Given the description of an element on the screen output the (x, y) to click on. 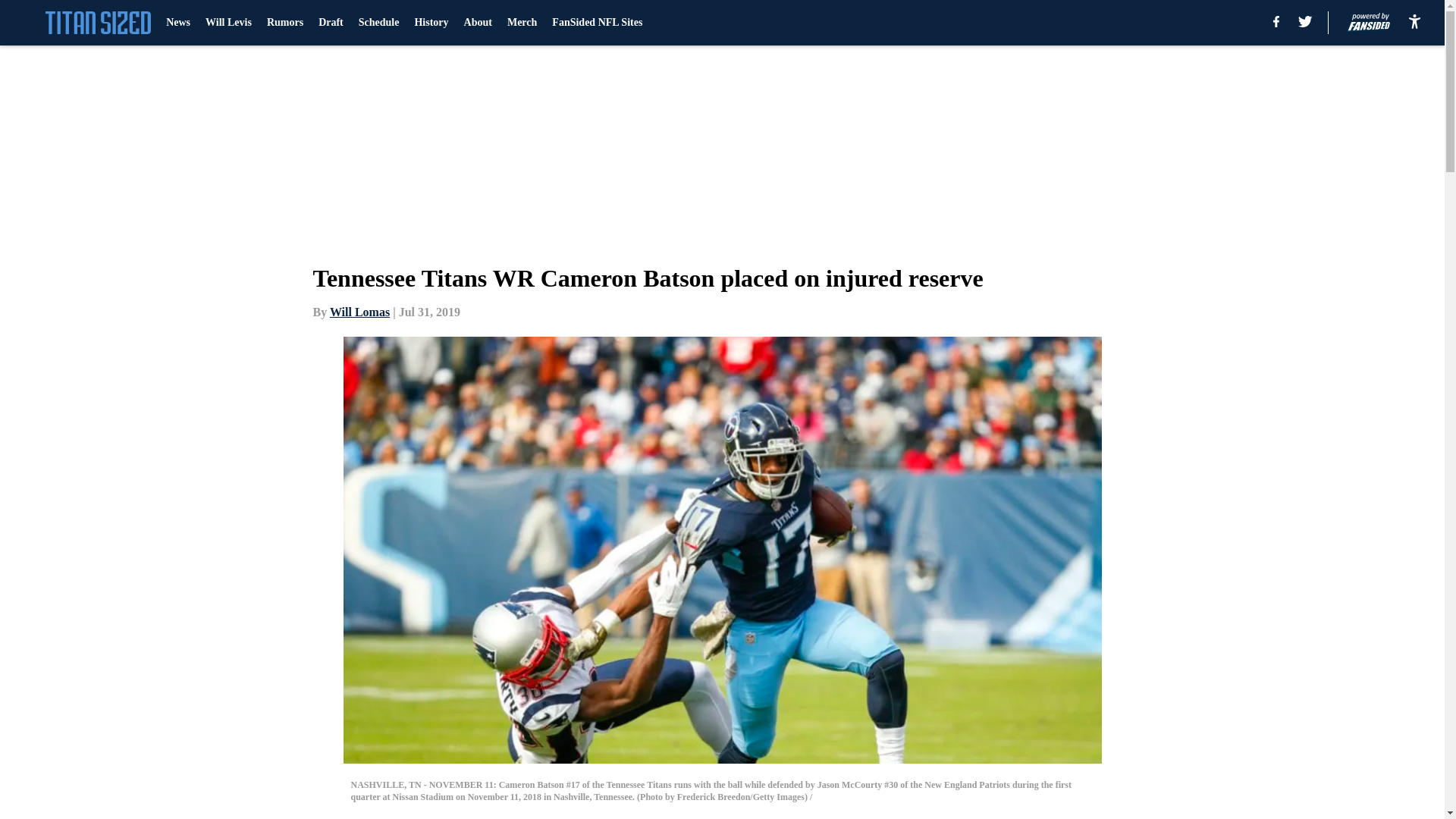
News (177, 22)
Will Levis (228, 22)
Schedule (378, 22)
FanSided NFL Sites (596, 22)
History (430, 22)
Rumors (284, 22)
About (478, 22)
Will Lomas (360, 311)
Draft (330, 22)
Merch (521, 22)
